Given the description of an element on the screen output the (x, y) to click on. 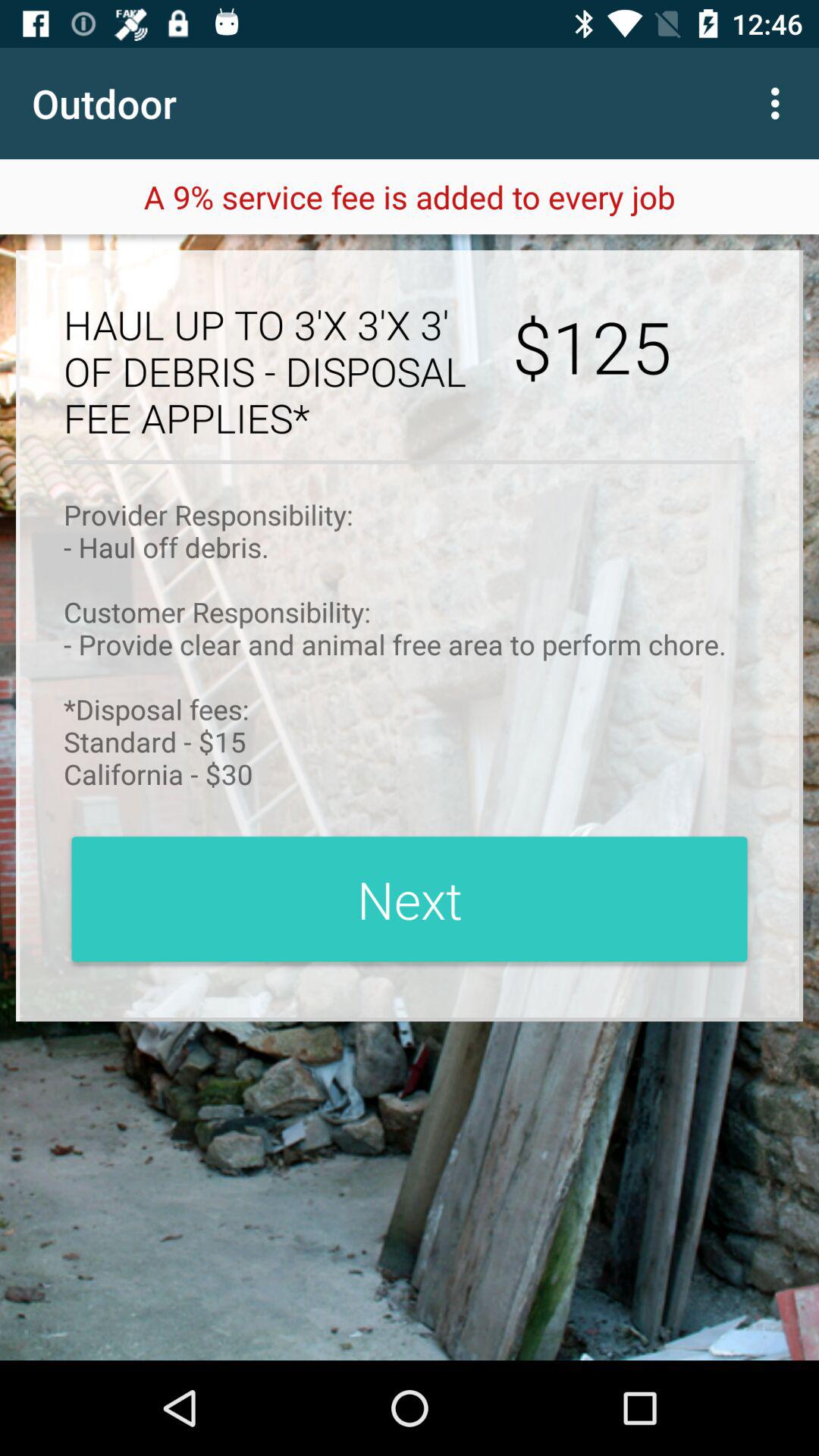
press item next to the outdoor item (779, 103)
